Given the description of an element on the screen output the (x, y) to click on. 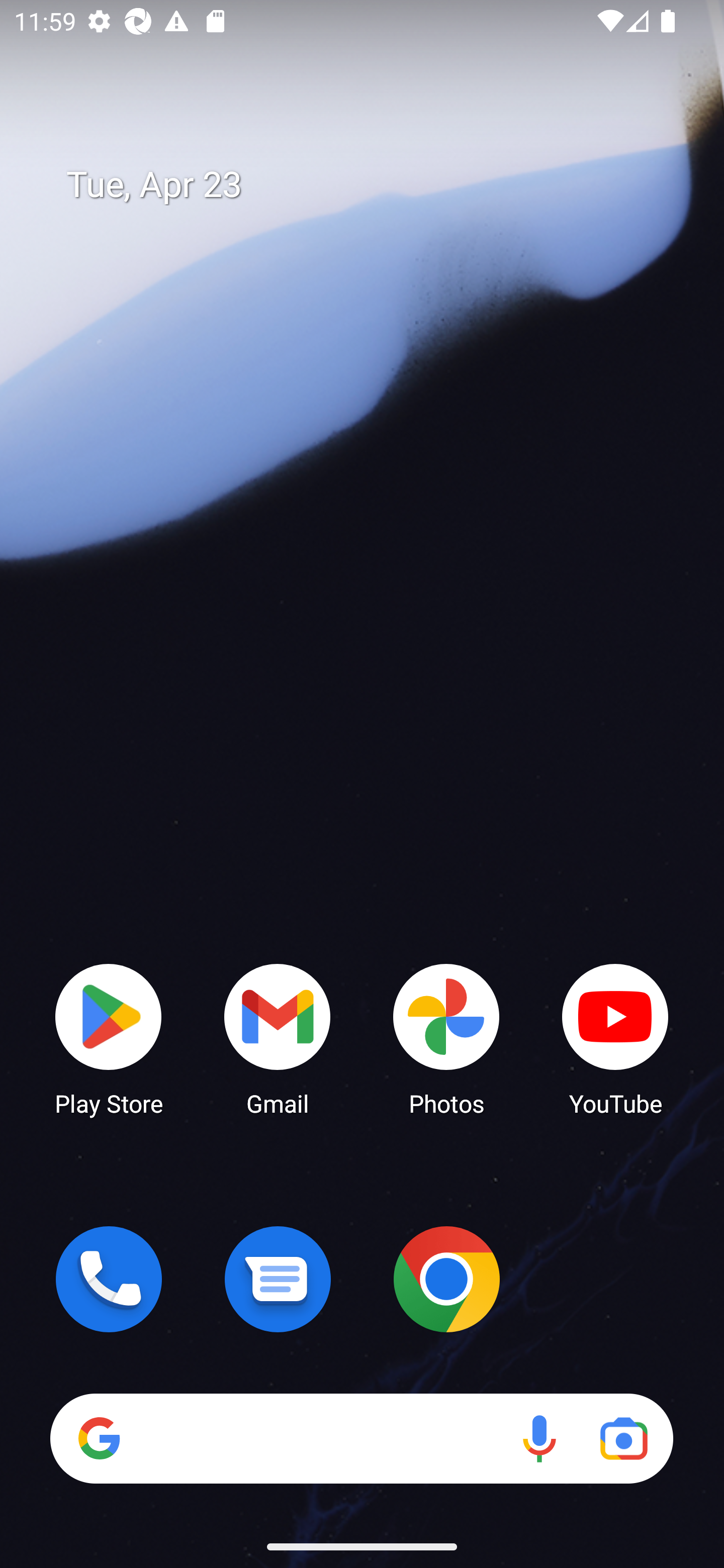
Tue, Apr 23 (375, 184)
Play Store (108, 1038)
Gmail (277, 1038)
Photos (445, 1038)
YouTube (615, 1038)
Phone (108, 1279)
Messages (277, 1279)
Chrome (446, 1279)
Search Voice search Google Lens (361, 1438)
Voice search (539, 1438)
Google Lens (623, 1438)
